Given the description of an element on the screen output the (x, y) to click on. 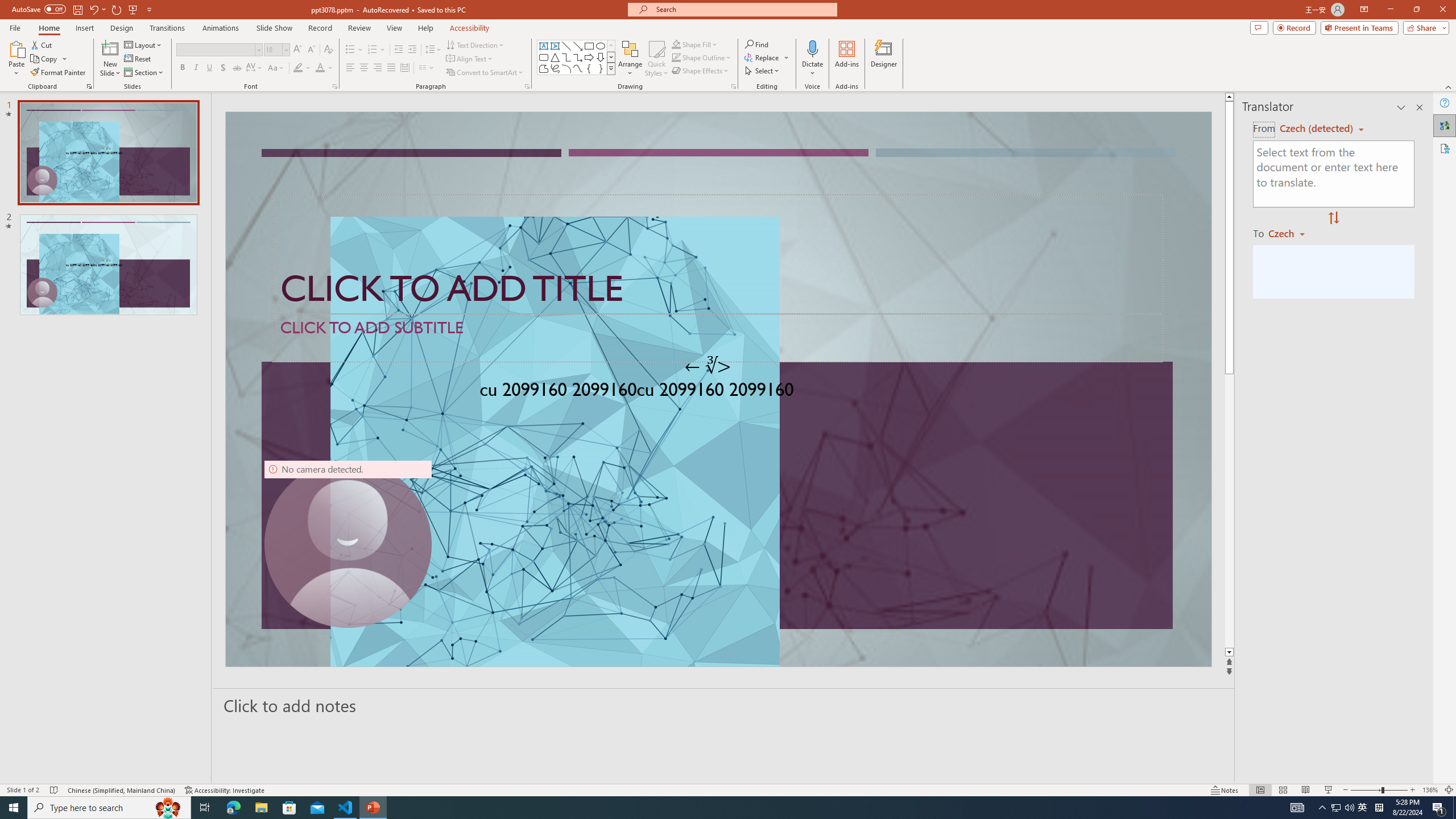
An abstract genetic concept (718, 389)
